Given the description of an element on the screen output the (x, y) to click on. 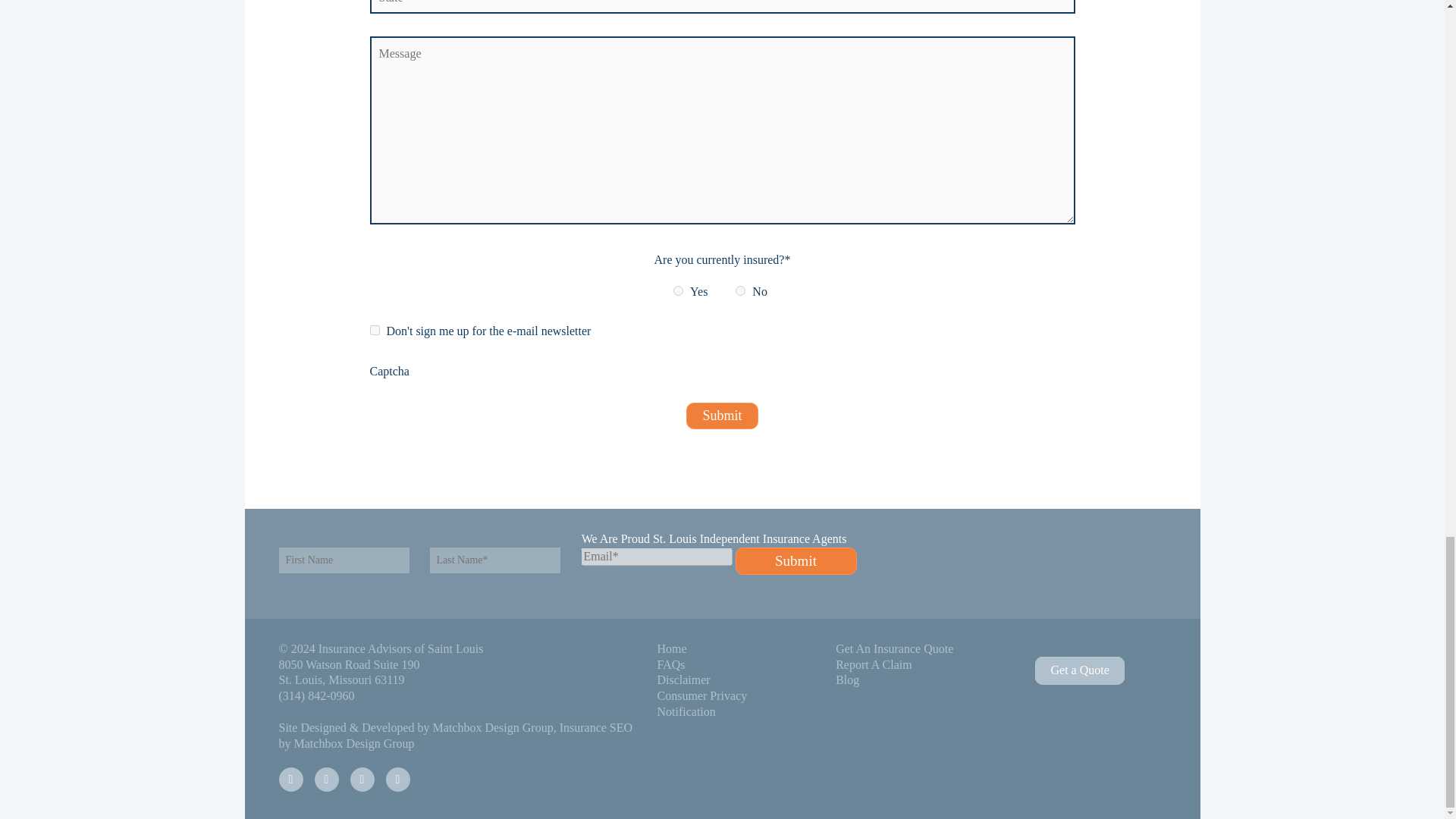
Yes (677, 290)
No (740, 290)
Submit (796, 560)
Don't sign me up for the e-mail newsletter (374, 329)
Submit (721, 415)
